Given the description of an element on the screen output the (x, y) to click on. 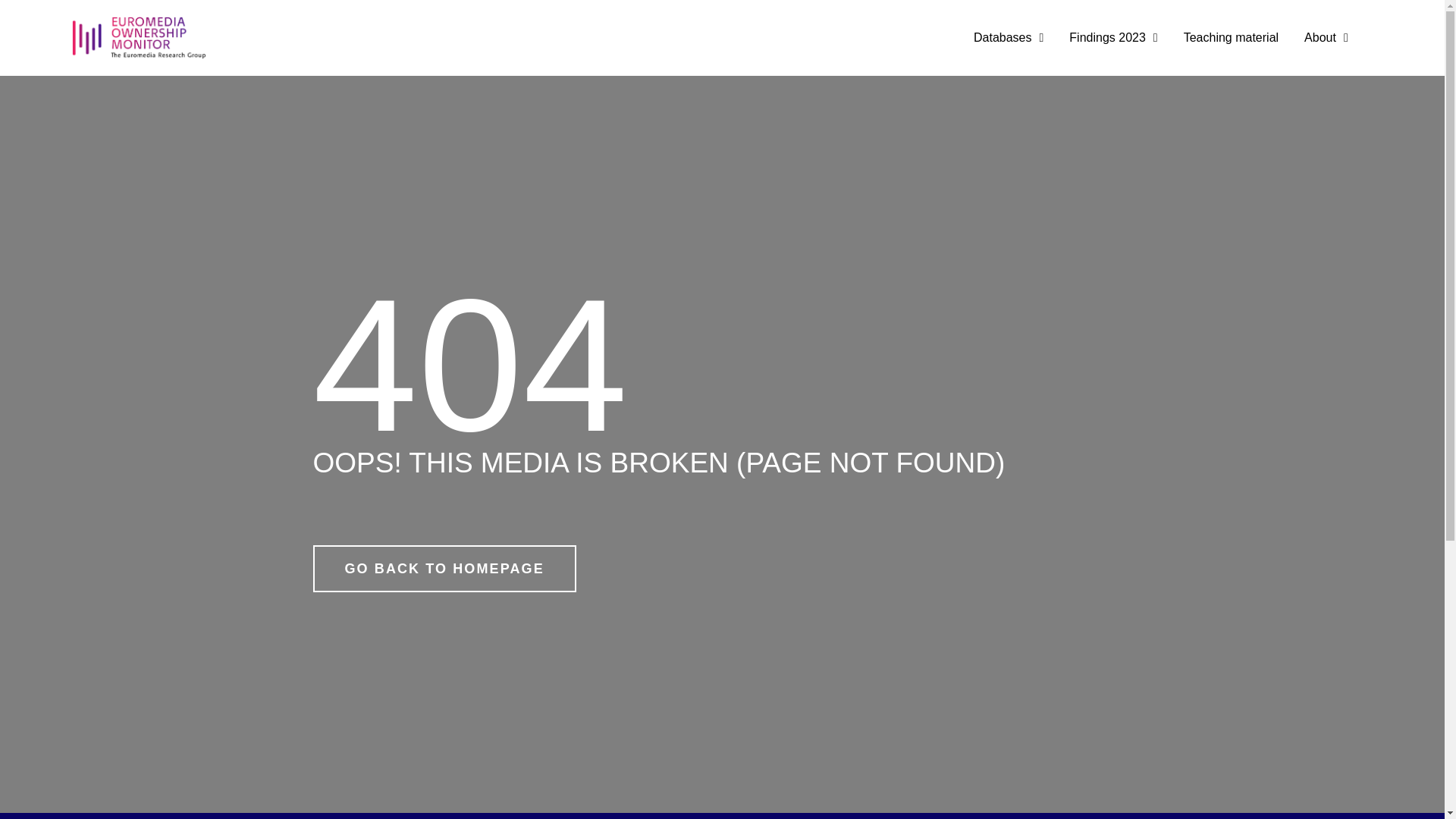
About (1326, 37)
Teaching material (1230, 37)
Databases (1008, 37)
GO BACK TO HOMEPAGE (444, 567)
Findings 2023 (1112, 37)
